Given the description of an element on the screen output the (x, y) to click on. 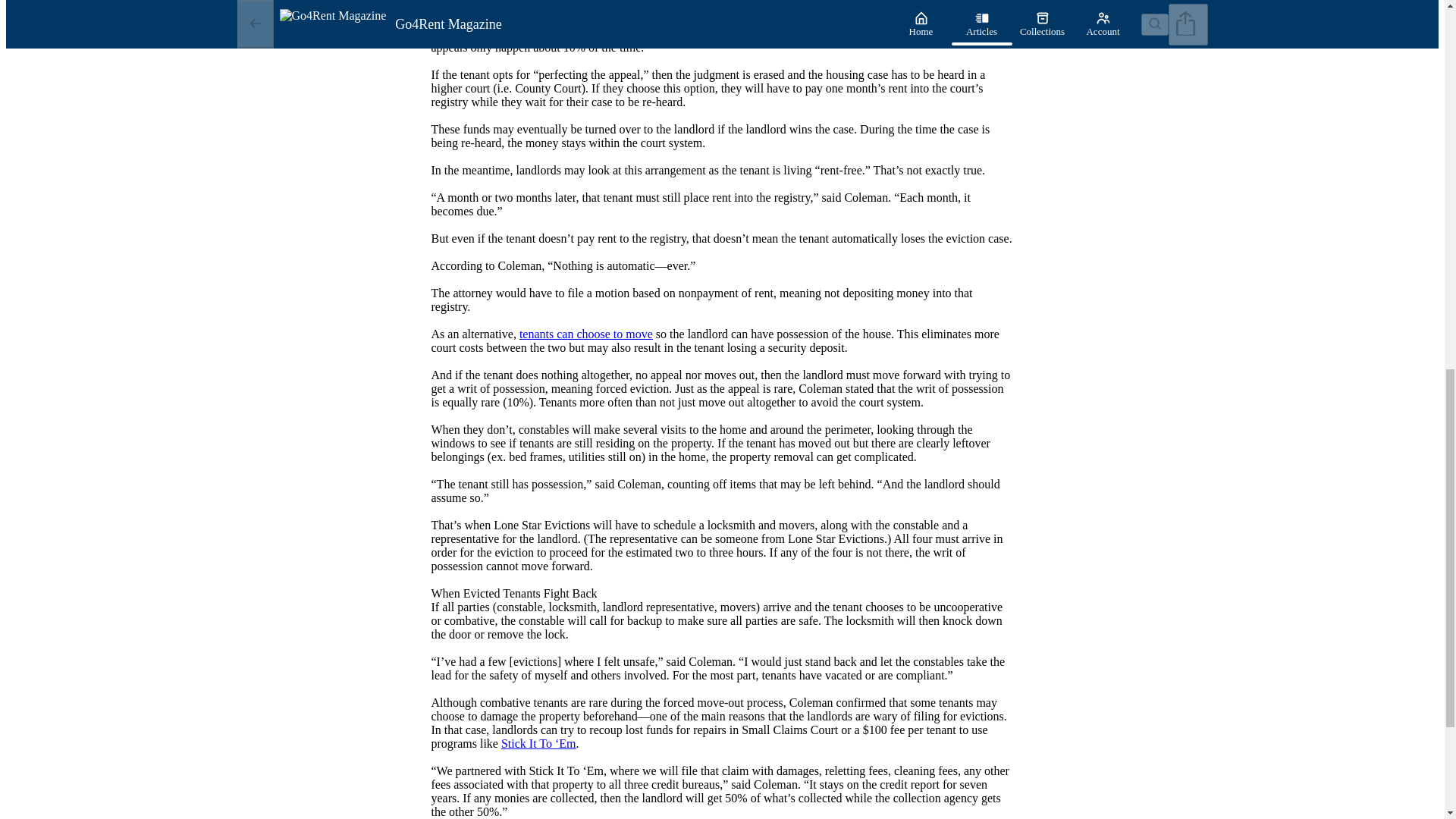
tenants can choose to move (585, 333)
